Given the description of an element on the screen output the (x, y) to click on. 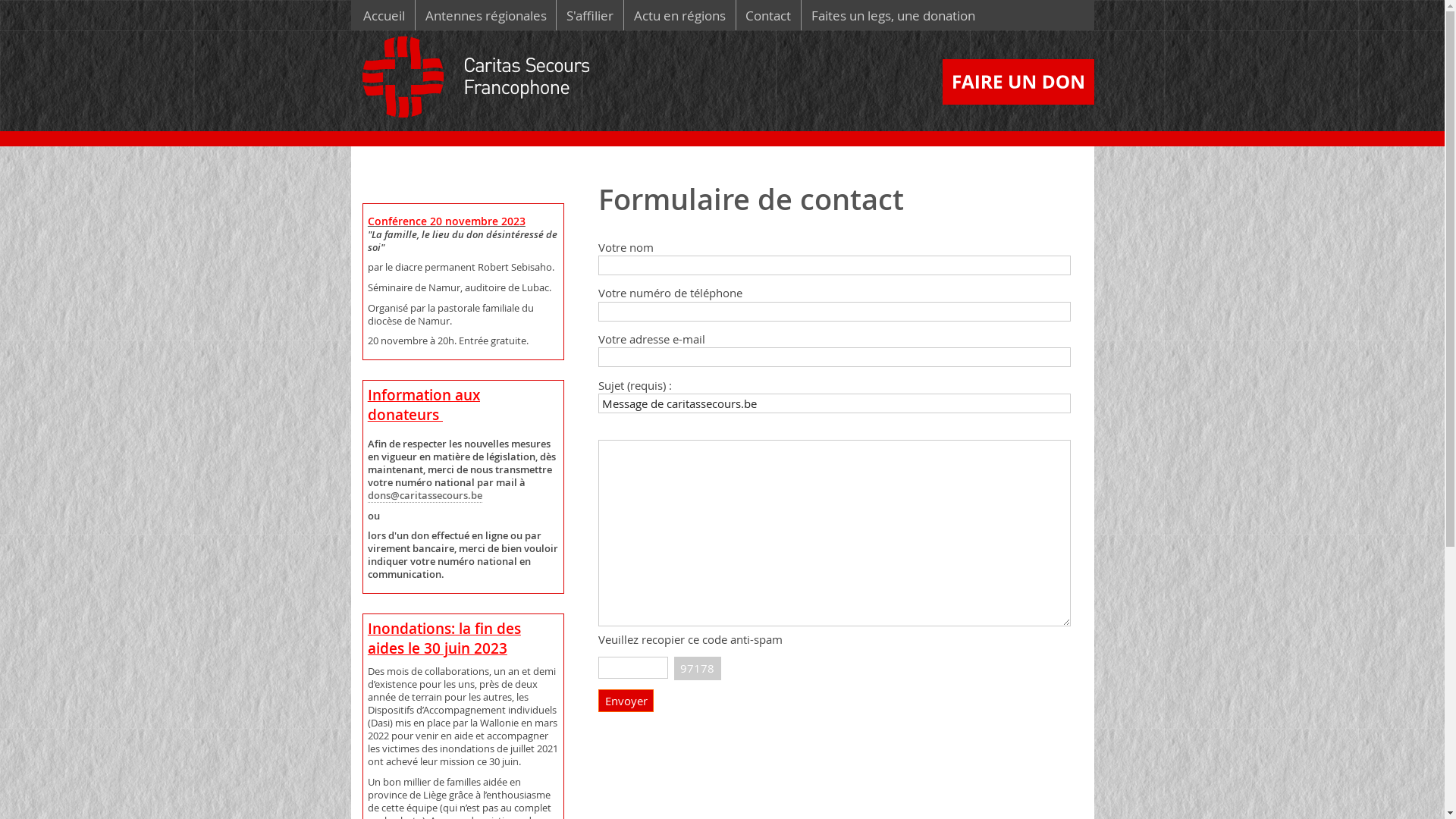
Accueil Element type: text (383, 15)
Envoyer Element type: text (625, 700)
faire un don Element type: hover (1021, 82)
dons@caritassecours.be Element type: text (424, 495)
  Element type: text (1098, 111)
  Element type: text (479, 83)
Faites un legs, une donation Element type: text (893, 15)
S'affilier Element type: text (589, 15)
Contact Element type: text (768, 15)
Message Element type: hover (834, 532)
